Given the description of an element on the screen output the (x, y) to click on. 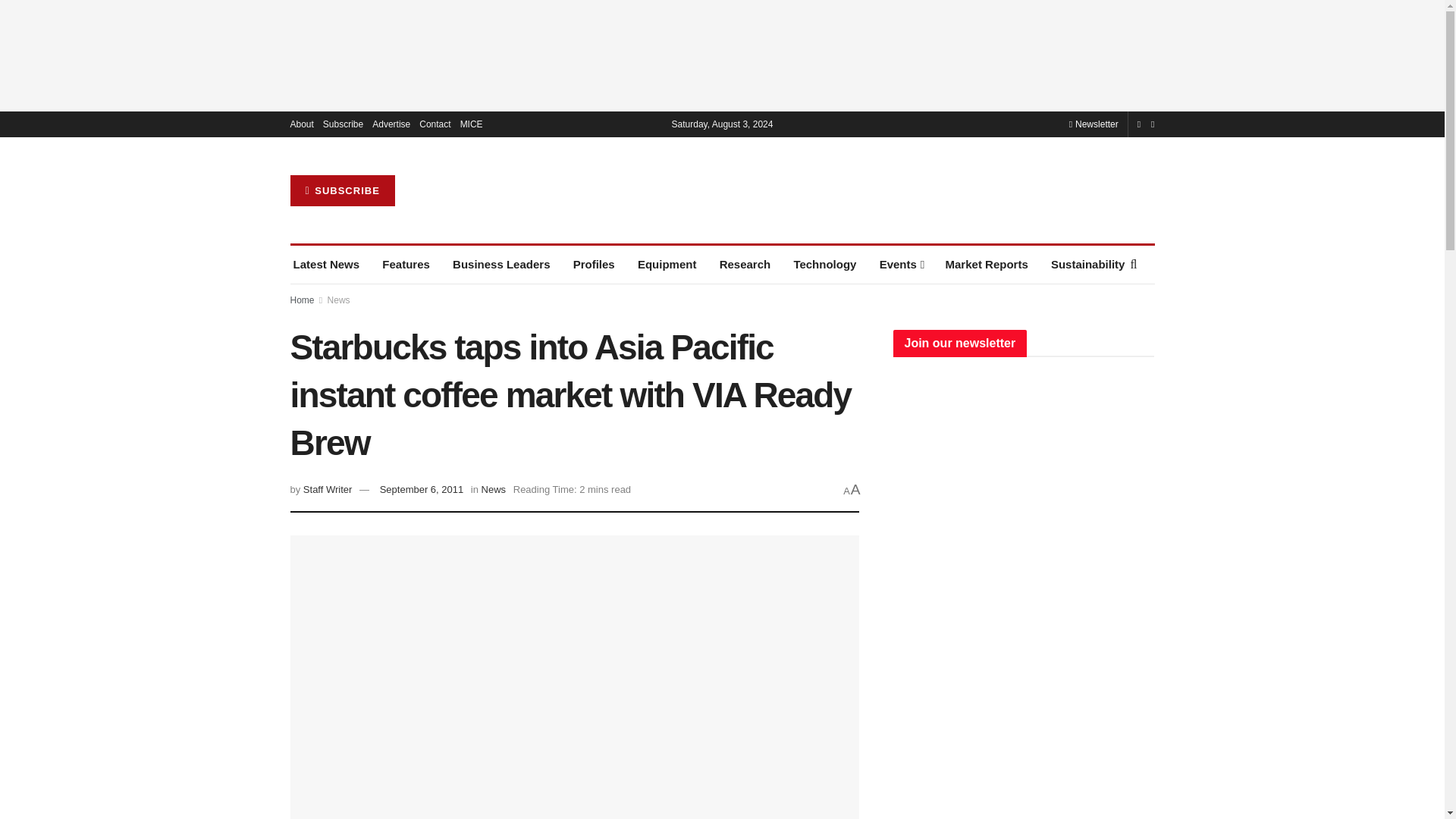
Newsletter (1093, 123)
Technology (824, 264)
Features (405, 264)
Subscribe (342, 124)
Market Reports (986, 264)
About (301, 124)
Equipment (667, 264)
SUBSCRIBE (341, 190)
Latest News (325, 264)
Business Leaders (501, 264)
Events (901, 264)
Contact (434, 124)
Profiles (593, 264)
Advertise (391, 124)
Research (745, 264)
